Given the description of an element on the screen output the (x, y) to click on. 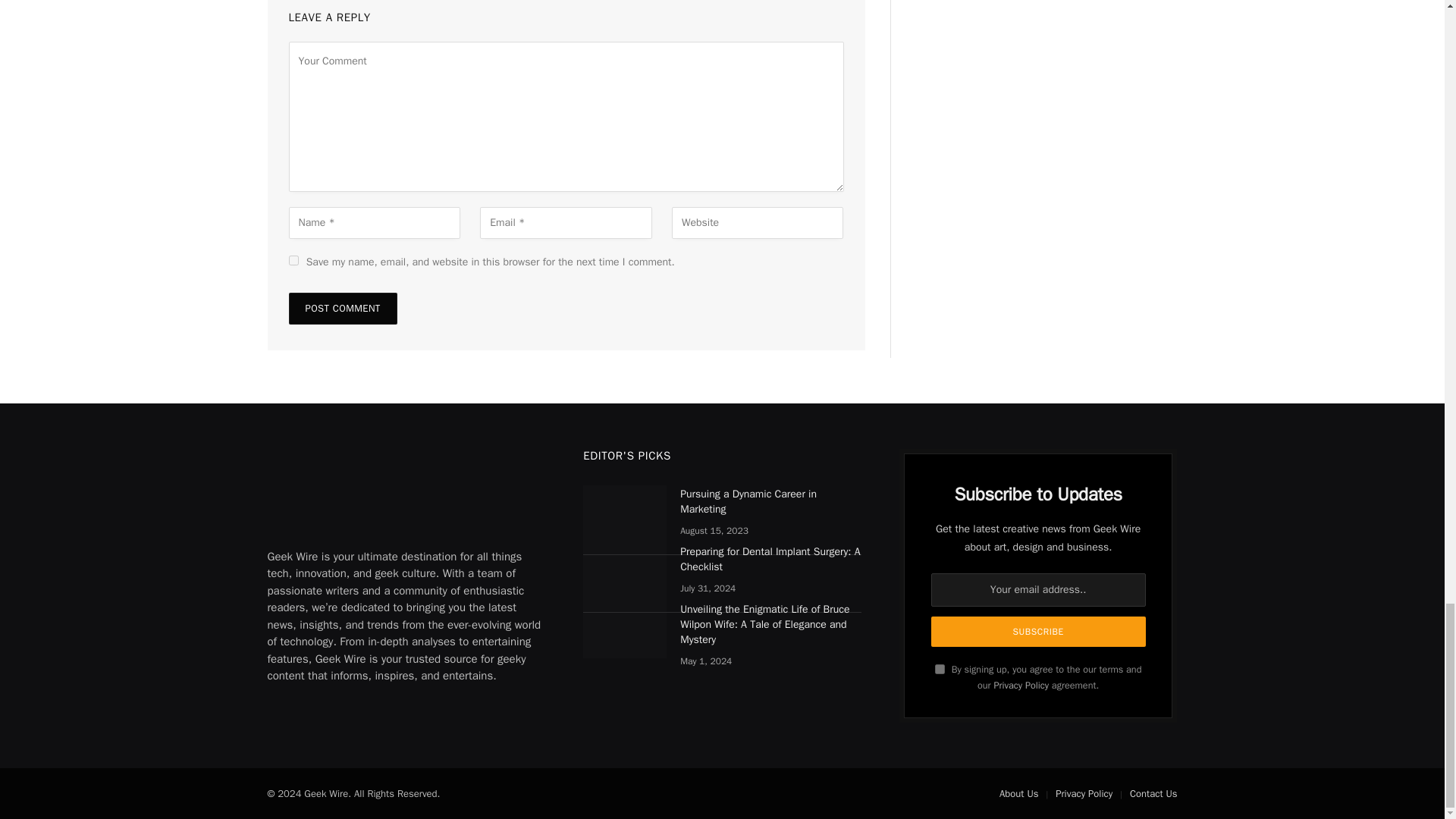
on (939, 669)
Post Comment (342, 308)
Post Comment (342, 308)
Subscribe (1038, 631)
yes (293, 260)
